Given the description of an element on the screen output the (x, y) to click on. 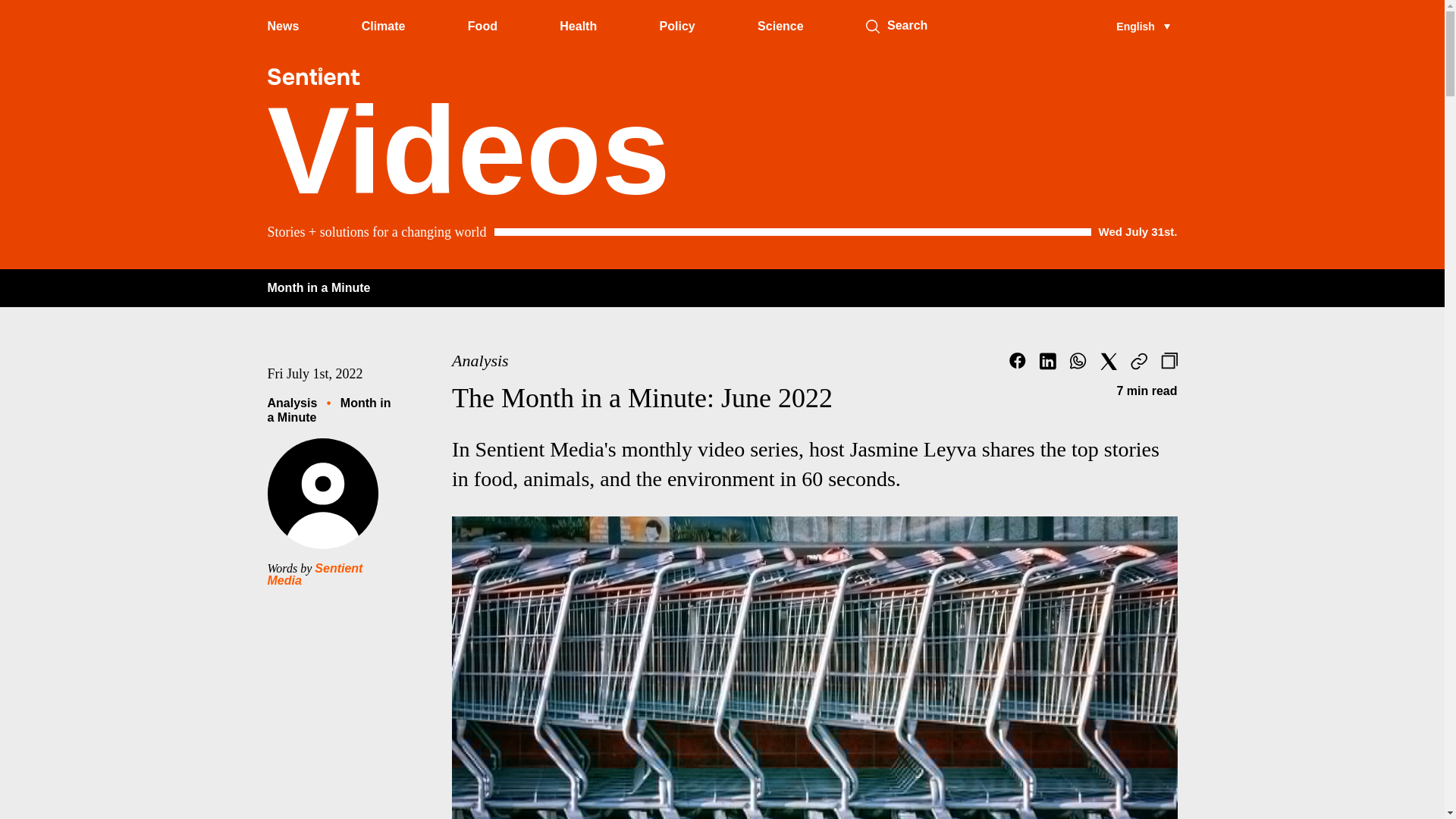
Climate (383, 25)
Health (577, 25)
Science (780, 25)
Search (872, 26)
Month in a Minute (317, 287)
English (1142, 26)
Policy (677, 25)
News (282, 25)
Food (482, 25)
